Given the description of an element on the screen output the (x, y) to click on. 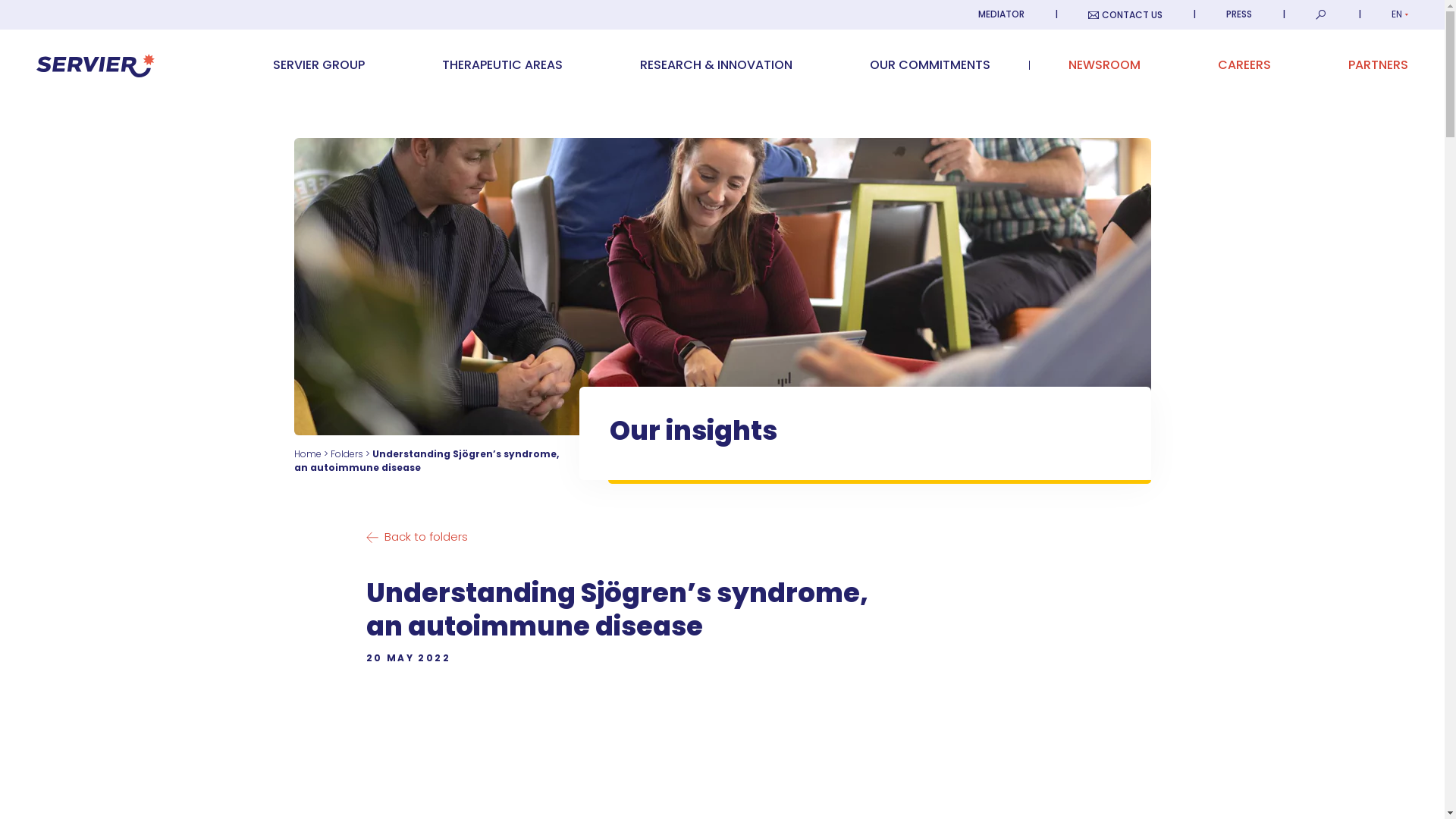
THERAPEUTIC AREAS (502, 64)
PRESS (1238, 13)
EN (1399, 14)
SERVIER GROUP (319, 64)
MEDIATOR (1001, 13)
Discover the Servier Group (319, 64)
CONTACT US (1124, 13)
